Given the description of an element on the screen output the (x, y) to click on. 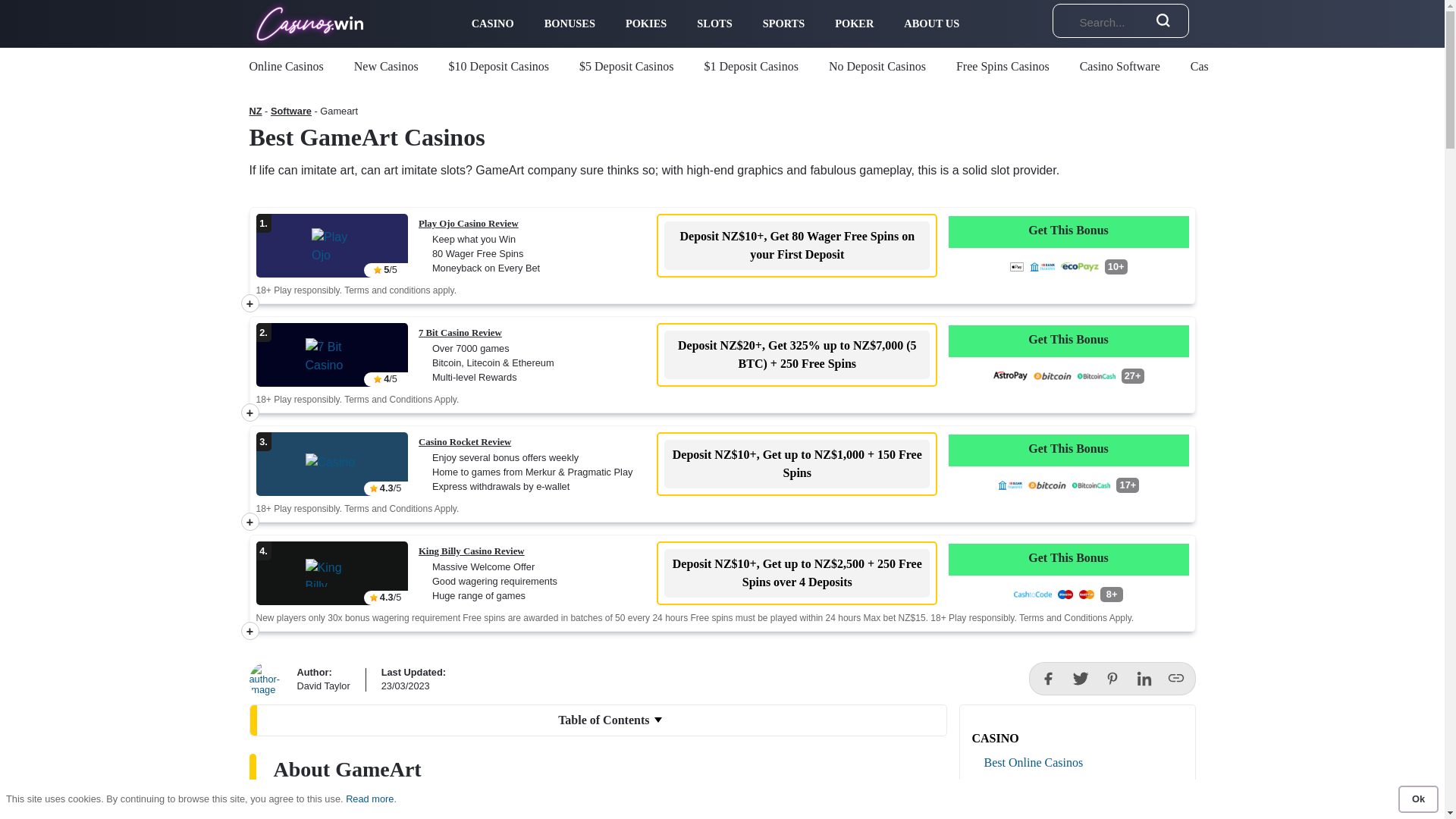
CASINO (493, 23)
